Given the description of an element on the screen output the (x, y) to click on. 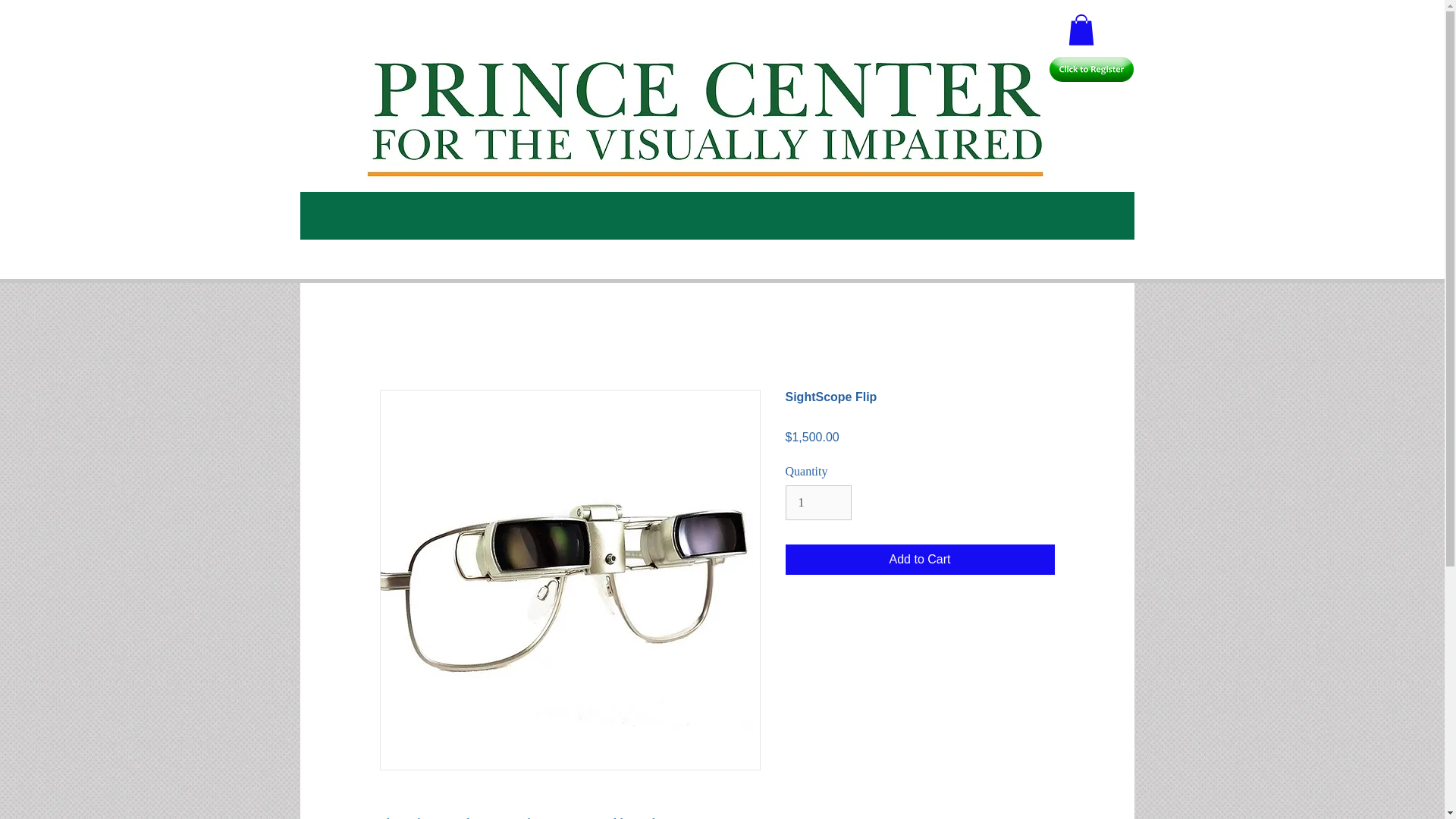
1 (818, 502)
Add to Cart (920, 559)
logopcvi.png (393, 88)
